Given the description of an element on the screen output the (x, y) to click on. 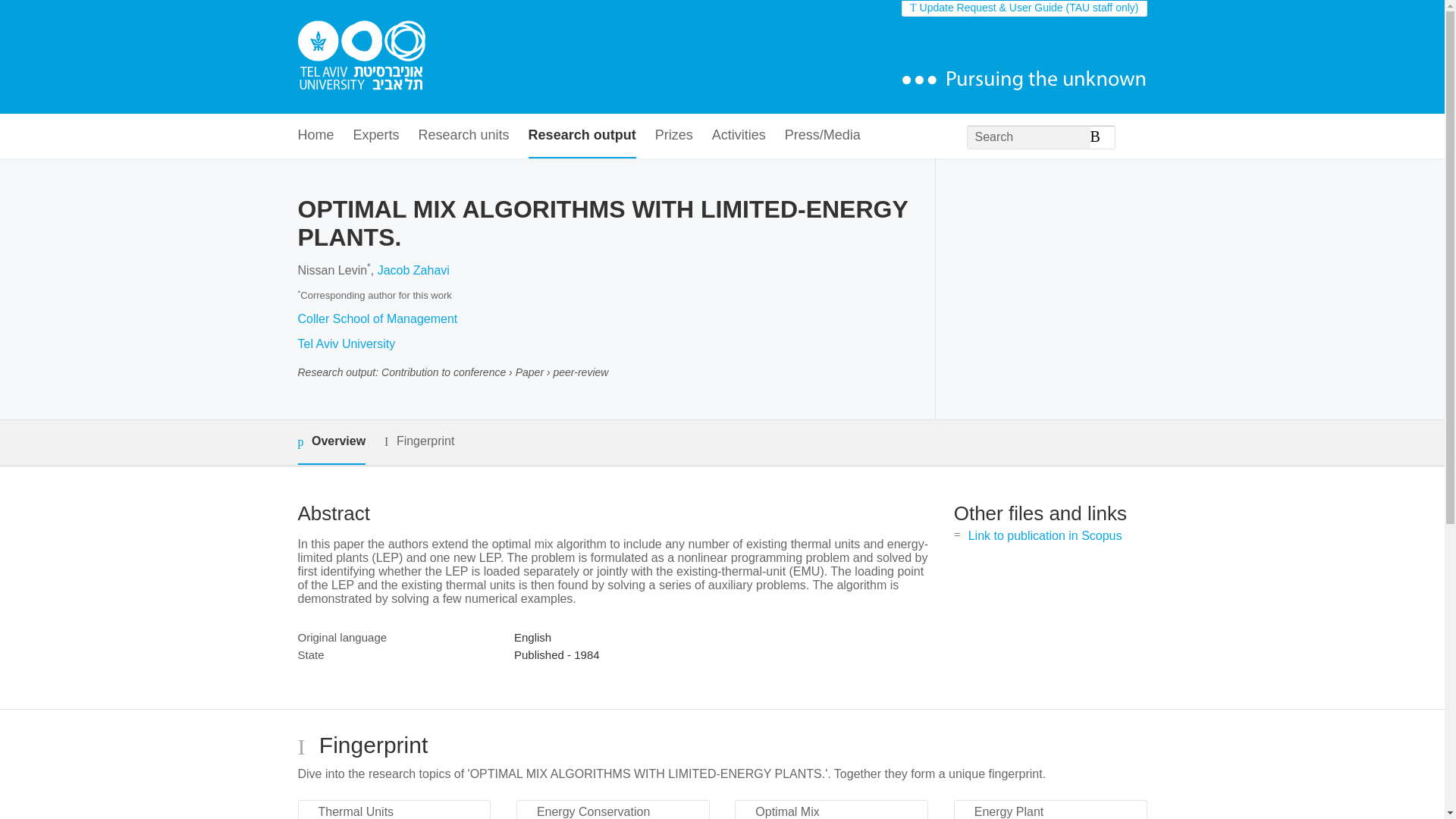
Overview (331, 442)
Activities (738, 135)
Tel Aviv University (345, 343)
Research output (582, 135)
Fingerprint (419, 441)
Tel Aviv University Home (361, 56)
Experts (375, 135)
Link to publication in Scopus (1045, 535)
Jacob Zahavi (413, 269)
Coller School of Management (377, 318)
Research units (464, 135)
